Given the description of an element on the screen output the (x, y) to click on. 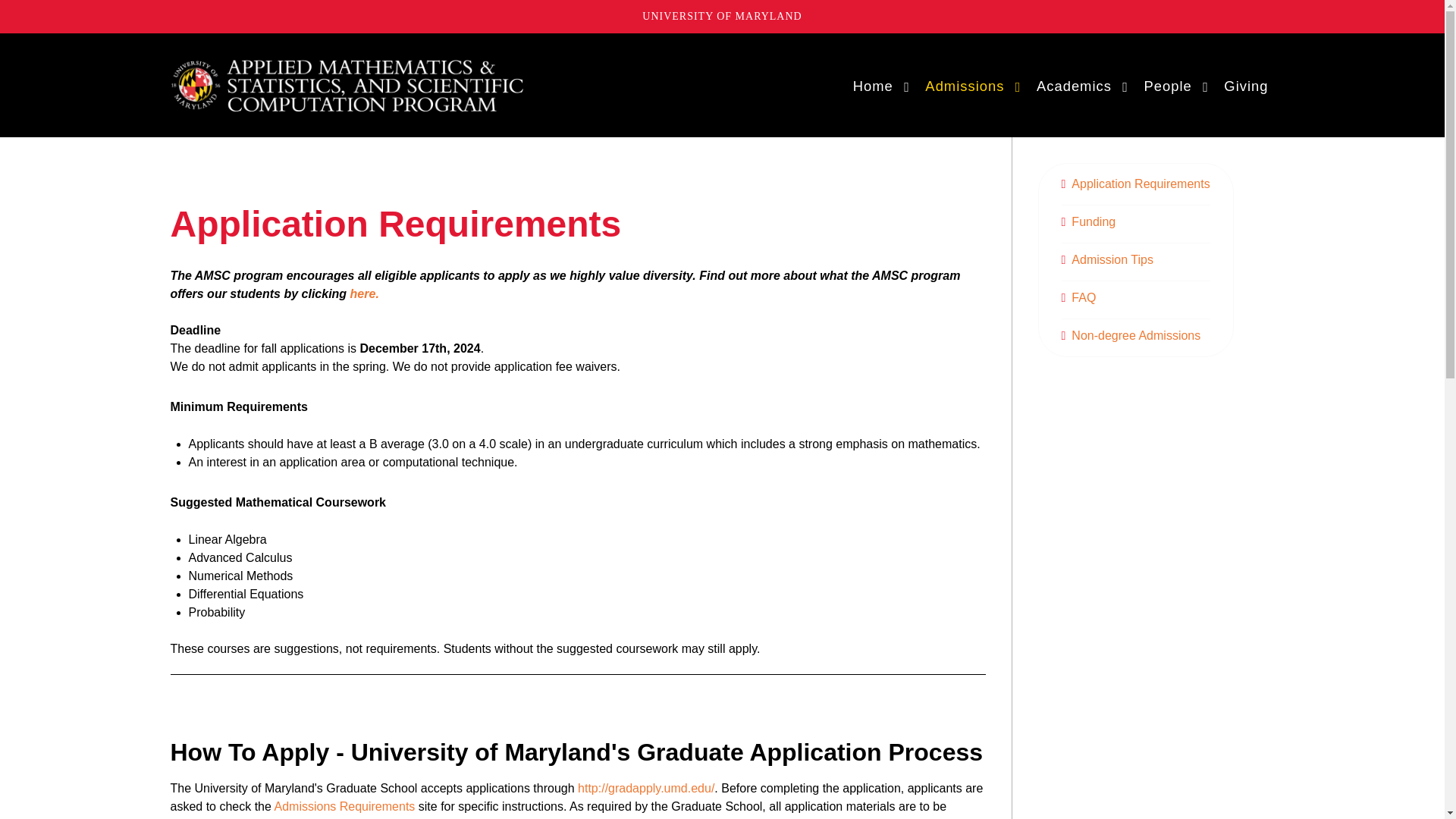
Academics (1082, 85)
Admissions (972, 85)
UNIVERSITY OF MARYLAND (722, 16)
Home (881, 85)
